Given the description of an element on the screen output the (x, y) to click on. 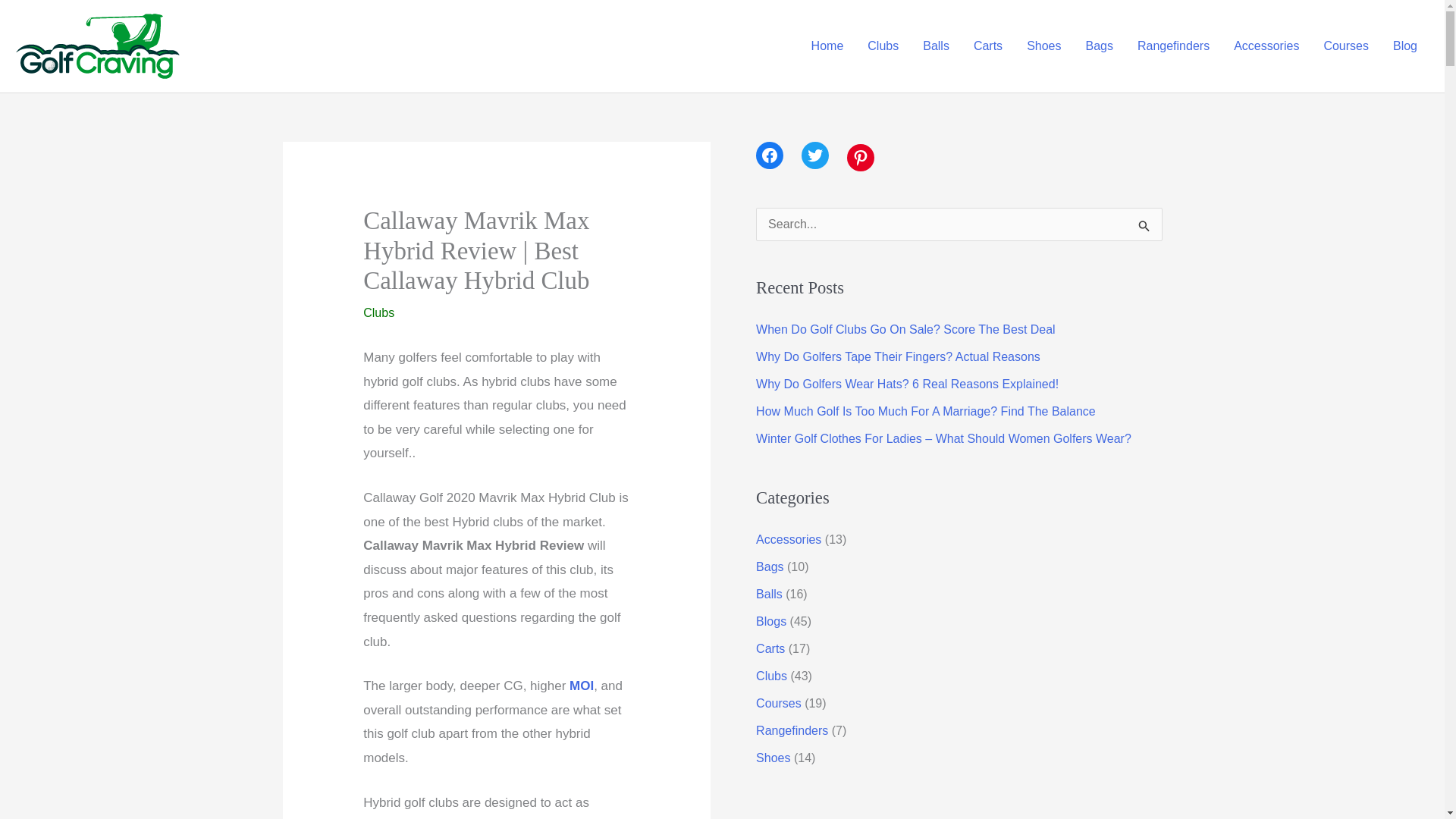
Courses (1345, 45)
Clubs (378, 312)
Clubs (883, 45)
Home (827, 45)
Carts (987, 45)
Bags (1099, 45)
MOI (581, 685)
Accessories (1266, 45)
Balls (935, 45)
Shoes (1043, 45)
